Given the description of an element on the screen output the (x, y) to click on. 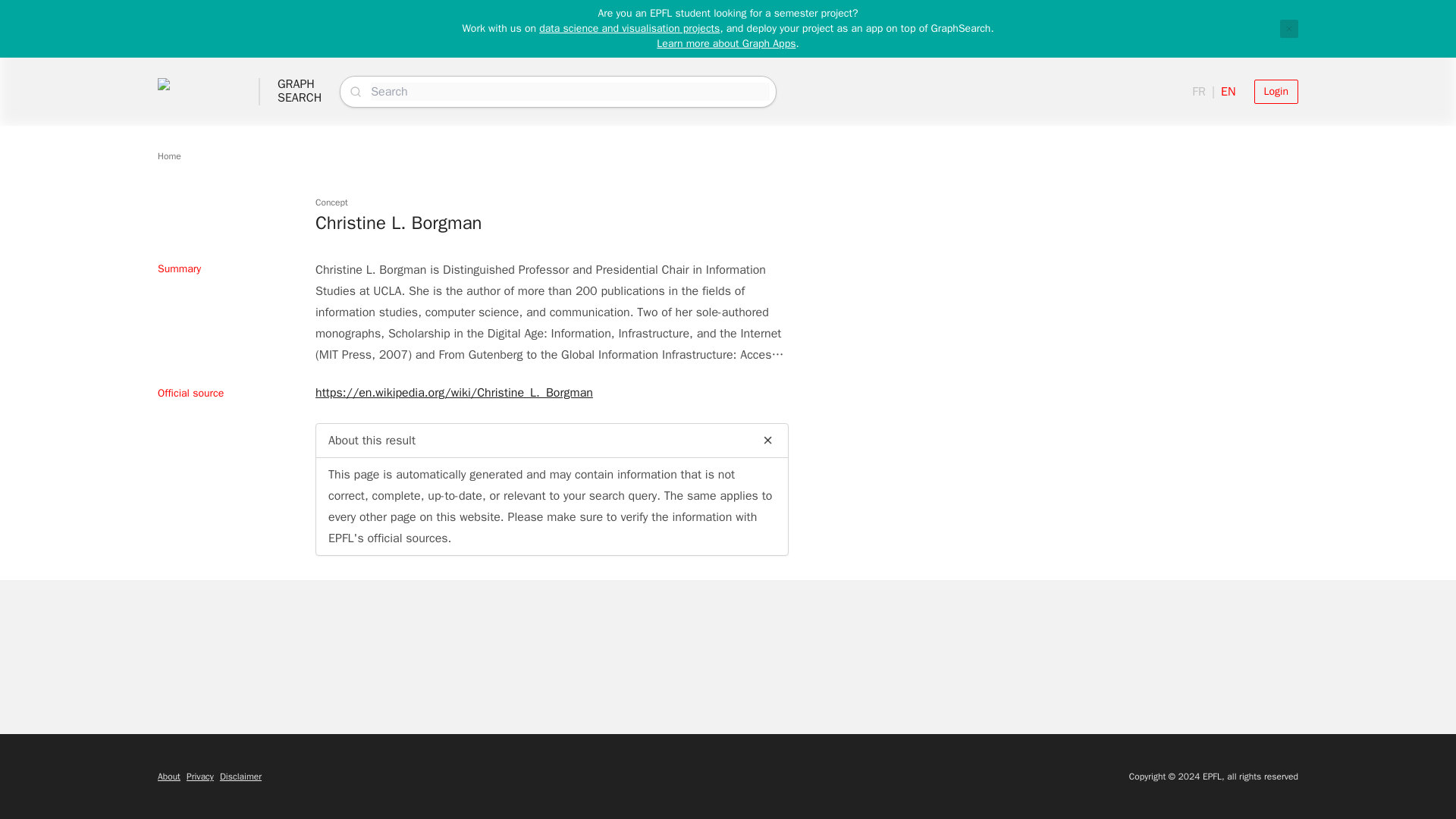
EN (1228, 91)
Privacy (299, 90)
data science and visualisation projects (200, 776)
Disclaimer (628, 28)
Learn more about Graph Apps (240, 776)
About (725, 42)
Home (168, 776)
Close notification (168, 155)
Login (1288, 28)
FR (1275, 91)
